Given the description of an element on the screen output the (x, y) to click on. 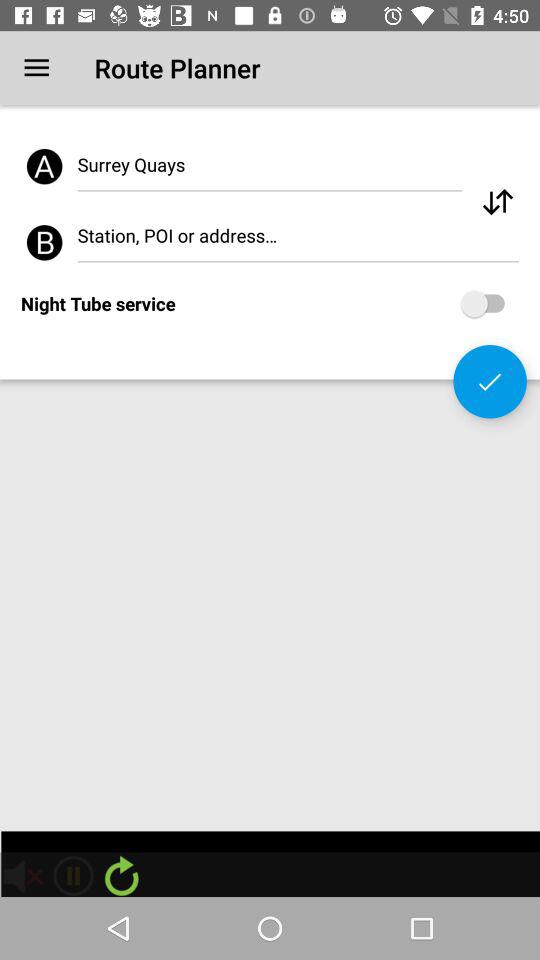
swap a and b (498, 202)
